Given the description of an element on the screen output the (x, y) to click on. 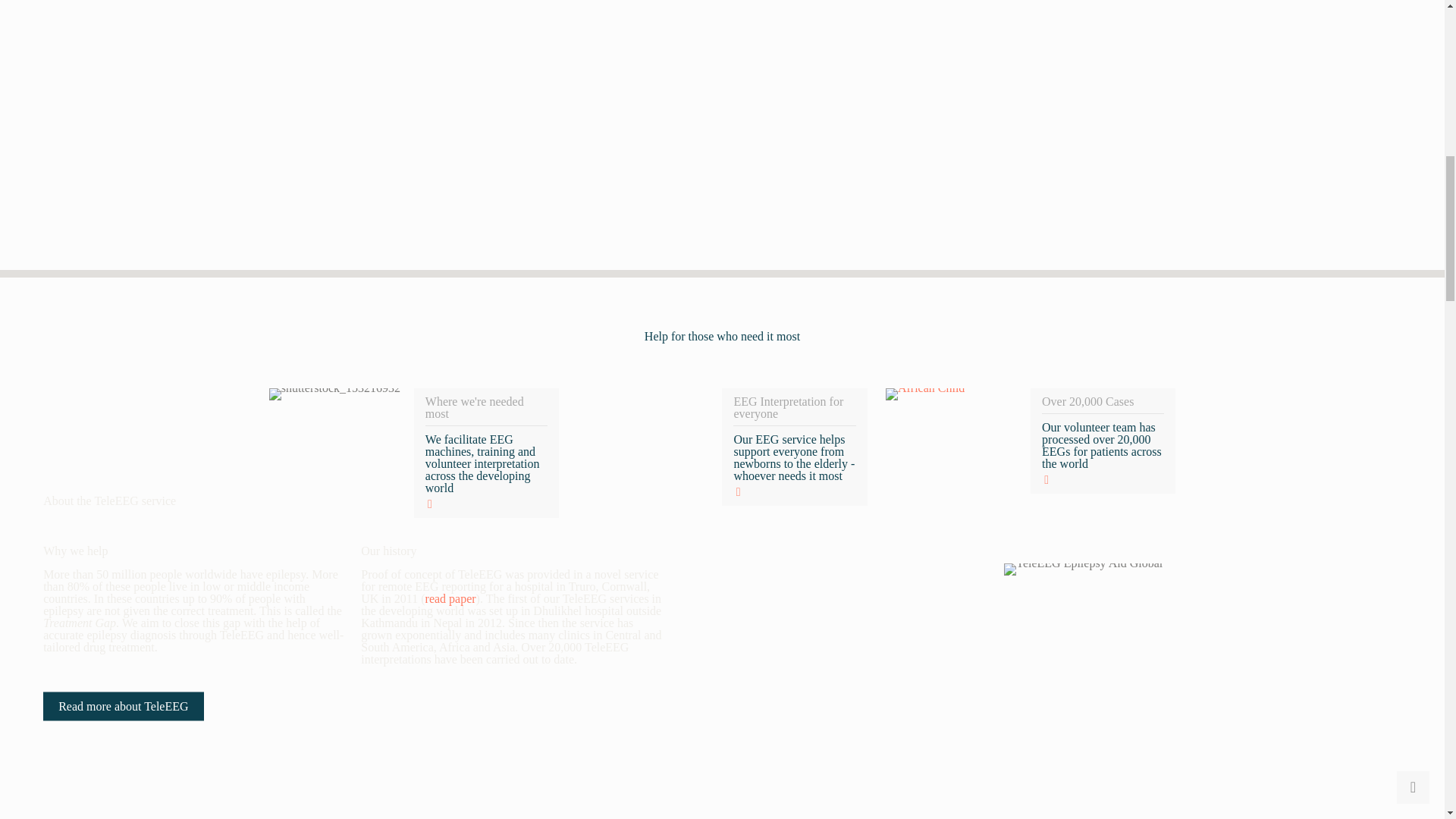
Read more about TeleEEG (123, 705)
read paper (450, 597)
